Given the description of an element on the screen output the (x, y) to click on. 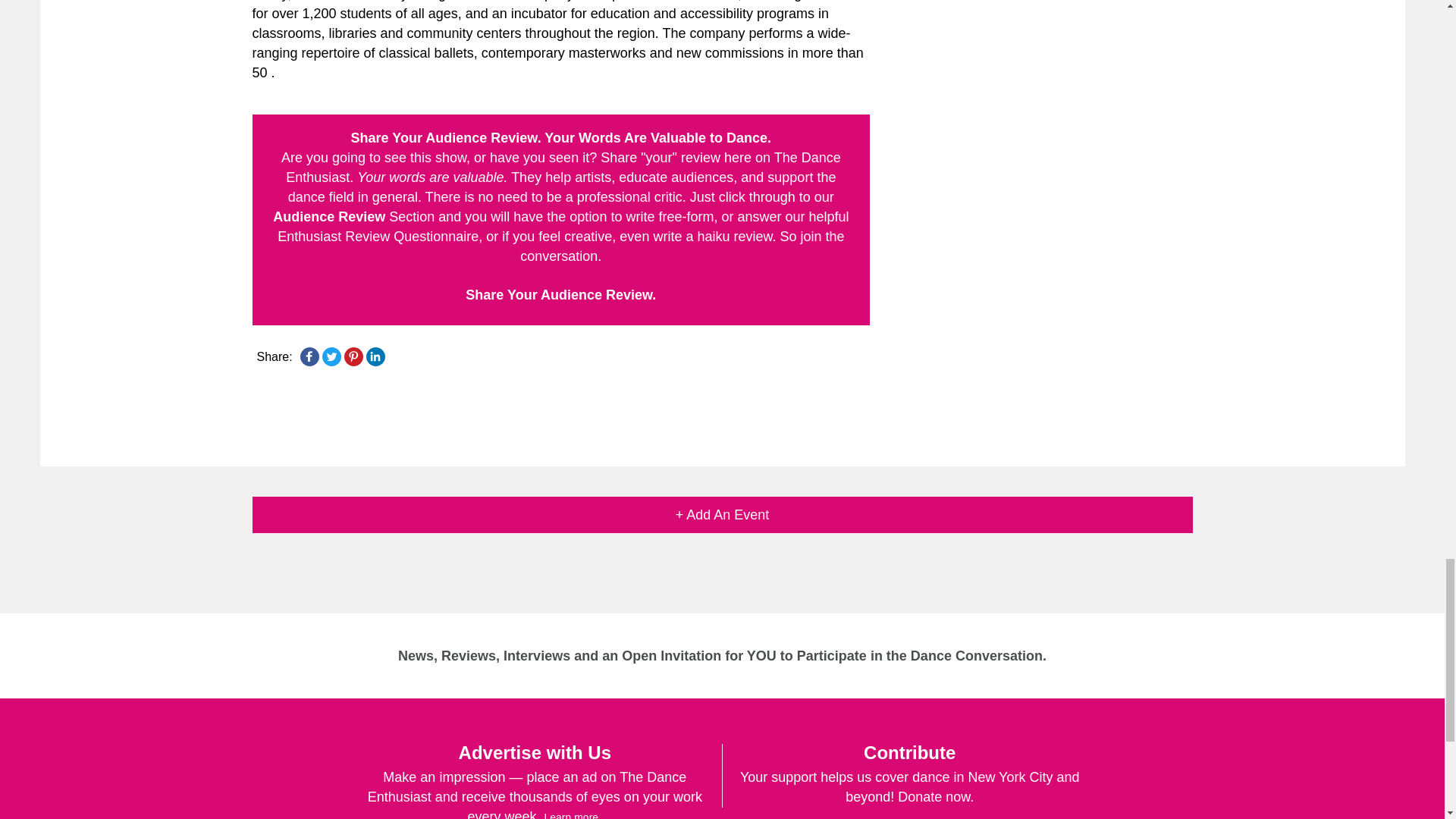
Twitter (331, 355)
Pinterest (353, 355)
LinkedIn (375, 355)
Facebook (309, 355)
